Given the description of an element on the screen output the (x, y) to click on. 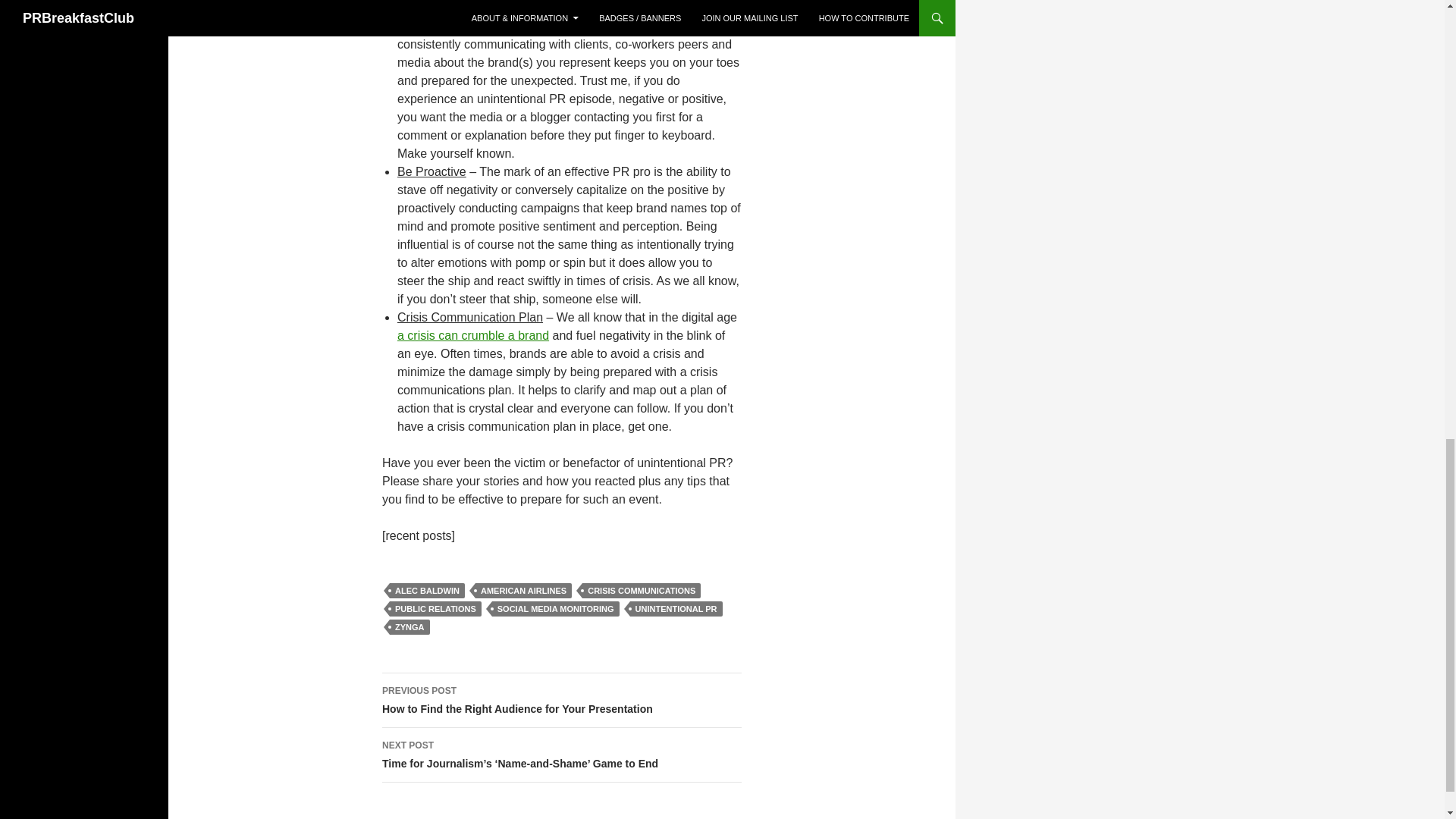
ZYNGA (409, 626)
SOCIAL MEDIA MONITORING (556, 608)
UNINTENTIONAL PR (676, 608)
ALEC BALDWIN (427, 590)
PUBLIC RELATIONS (435, 608)
CRISIS COMMUNICATIONS (641, 590)
a crisis can crumble a brand (472, 335)
AMERICAN AIRLINES (524, 590)
